Given the description of an element on the screen output the (x, y) to click on. 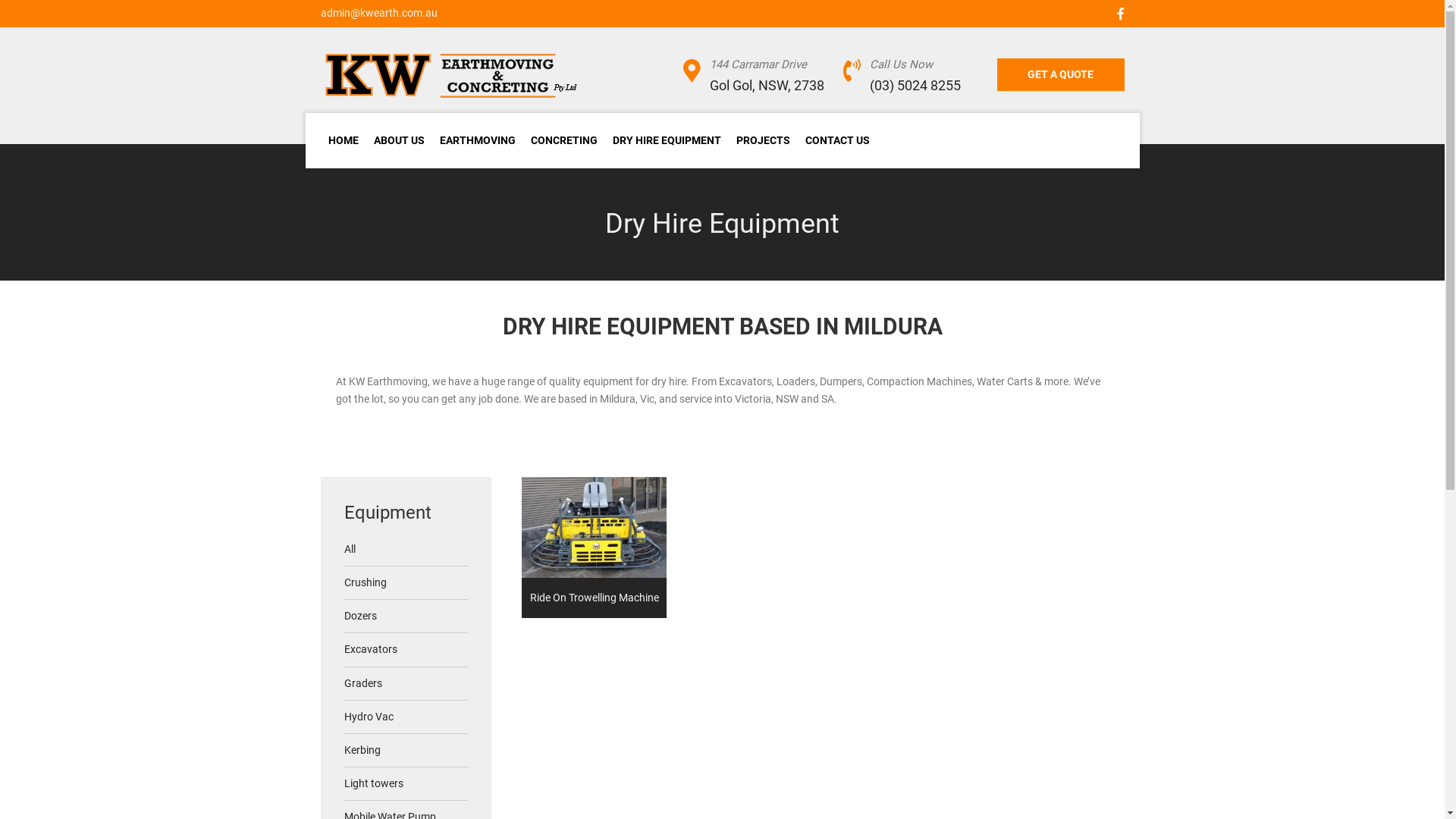
Crushing Element type: text (406, 582)
All Element type: text (406, 549)
PROJECTS Element type: text (762, 140)
ABOUT US Element type: text (398, 140)
EARTHMOVING Element type: text (477, 140)
Kerbing Element type: text (406, 750)
DRY HIRE EQUIPMENT Element type: text (666, 140)
HOME Element type: text (342, 140)
CONCRETING Element type: text (564, 140)
Dozers Element type: text (406, 616)
Ride On Trowelling Machine Element type: hover (593, 547)
Excavators Element type: text (406, 649)
kw-earthmoving-logo Element type: hover (452, 75)
Light towers Element type: text (406, 783)
CONTACT US Element type: text (837, 140)
Trowel Element type: hover (593, 527)
Graders Element type: text (406, 683)
GET A QUOTE Element type: text (1060, 74)
Hydro Vac Element type: text (406, 717)
